Given the description of an element on the screen output the (x, y) to click on. 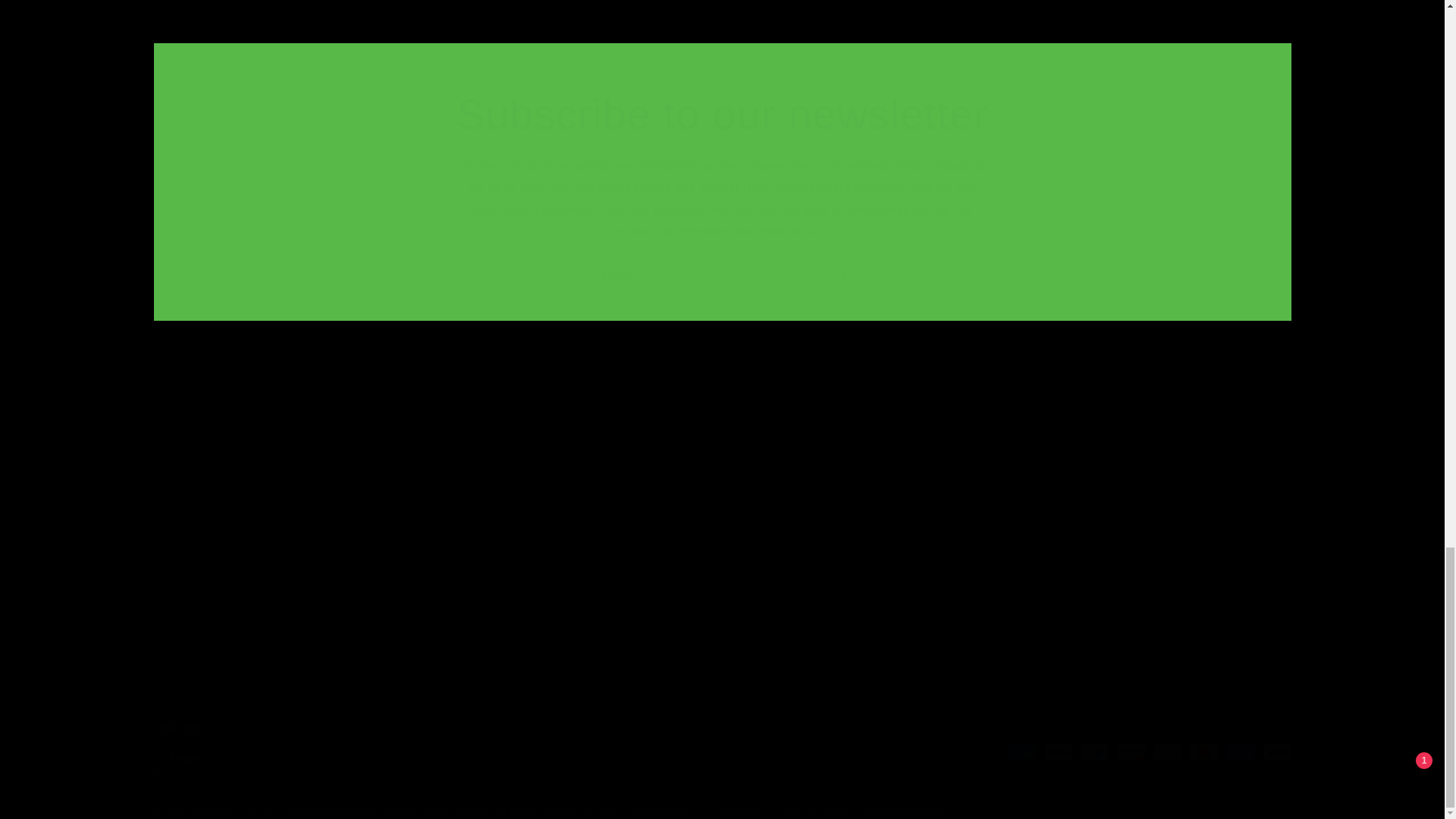
Subscribe to our newsletter (722, 114)
tel:5148448998 (490, 492)
Email (722, 275)
